Given the description of an element on the screen output the (x, y) to click on. 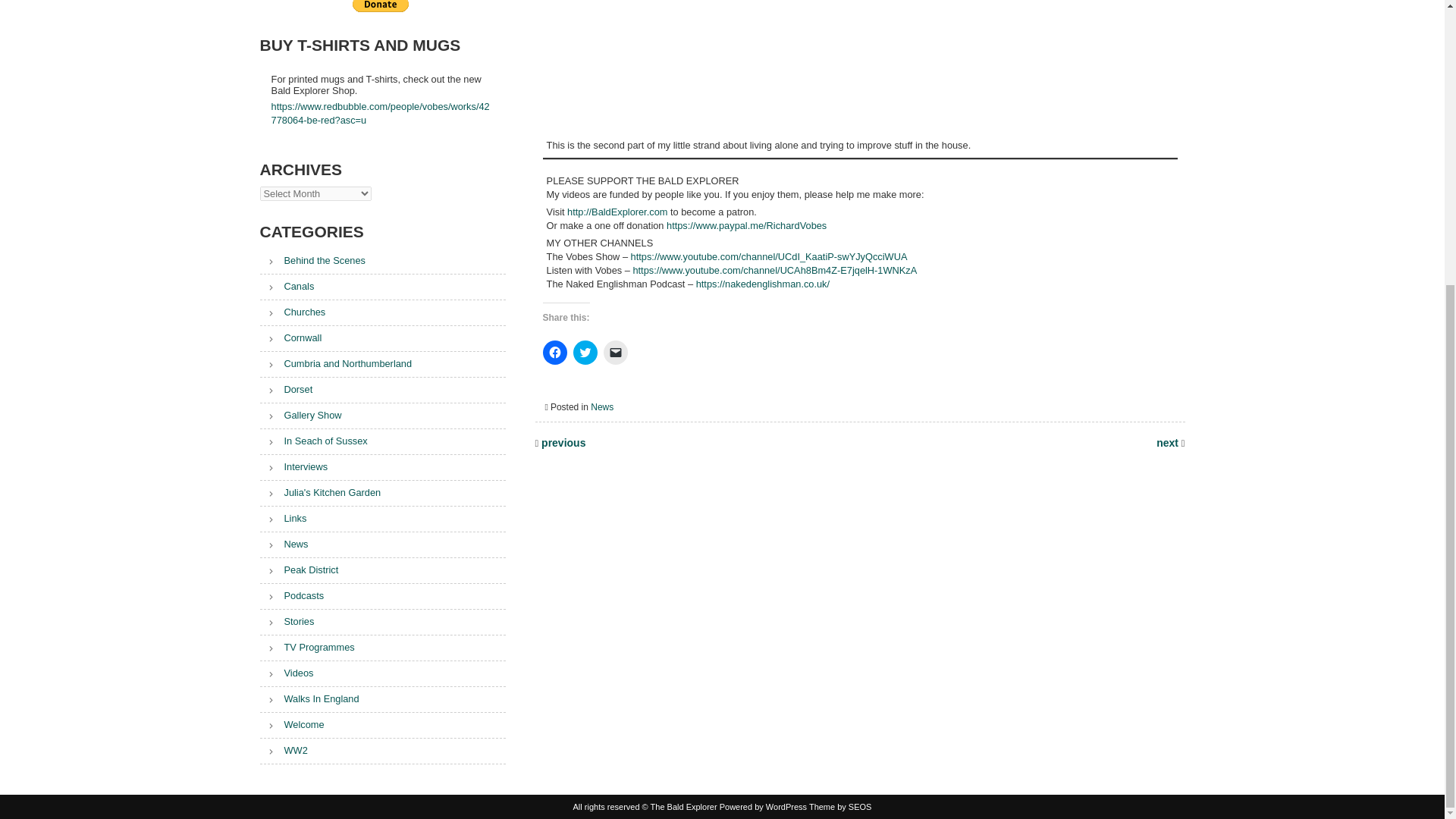
Dorset (286, 389)
WordPress (762, 806)
Canals (286, 285)
News (601, 407)
Gallery Show (299, 414)
Julia's Kitchen Garden (319, 491)
In Seach of Sussex (312, 440)
News (283, 543)
previous (561, 442)
next (1168, 442)
